Given the description of an element on the screen output the (x, y) to click on. 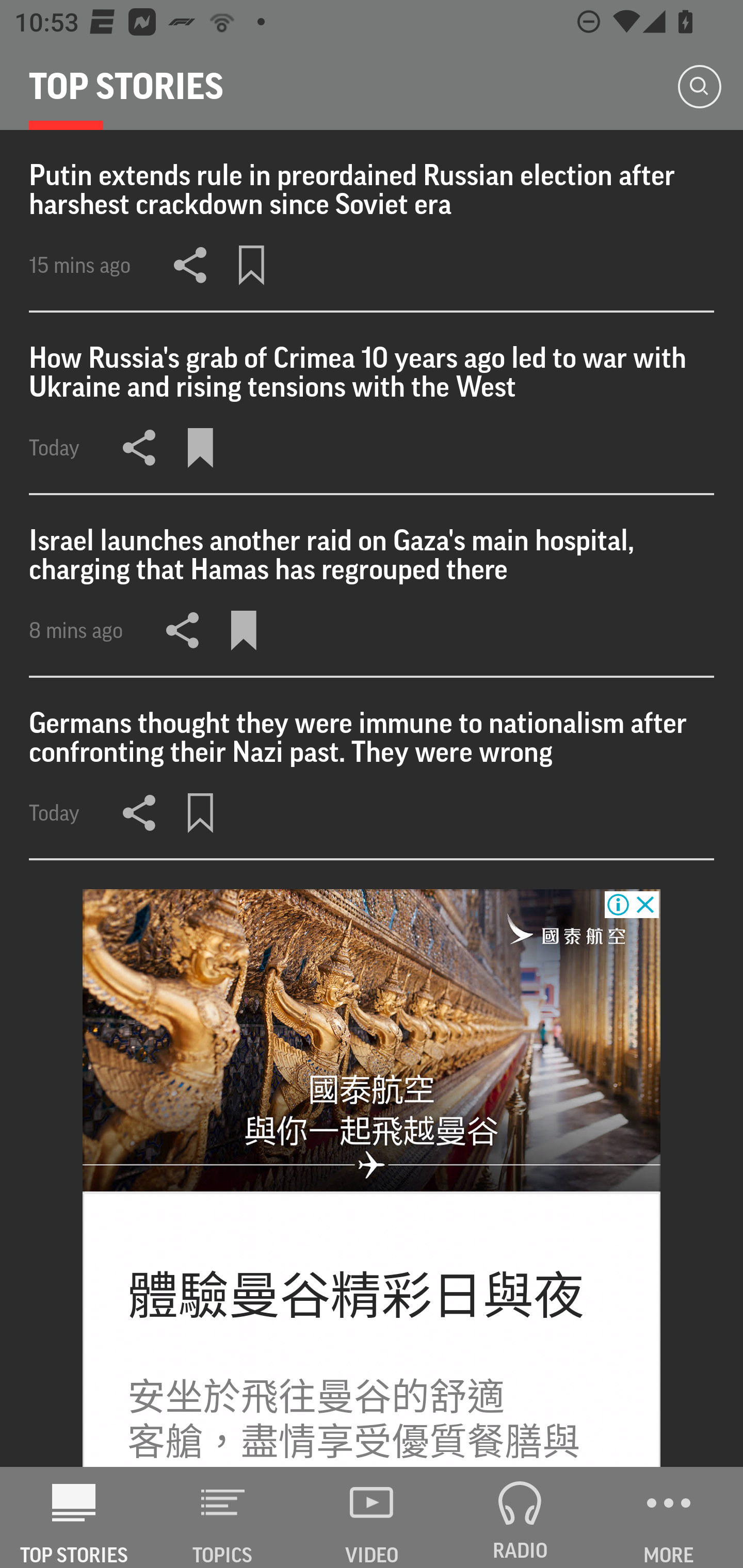
體驗曼谷精彩日與夜 (354, 1297)
AP News TOP STORIES (74, 1517)
TOPICS (222, 1517)
VIDEO (371, 1517)
RADIO (519, 1517)
MORE (668, 1517)
